Given the description of an element on the screen output the (x, y) to click on. 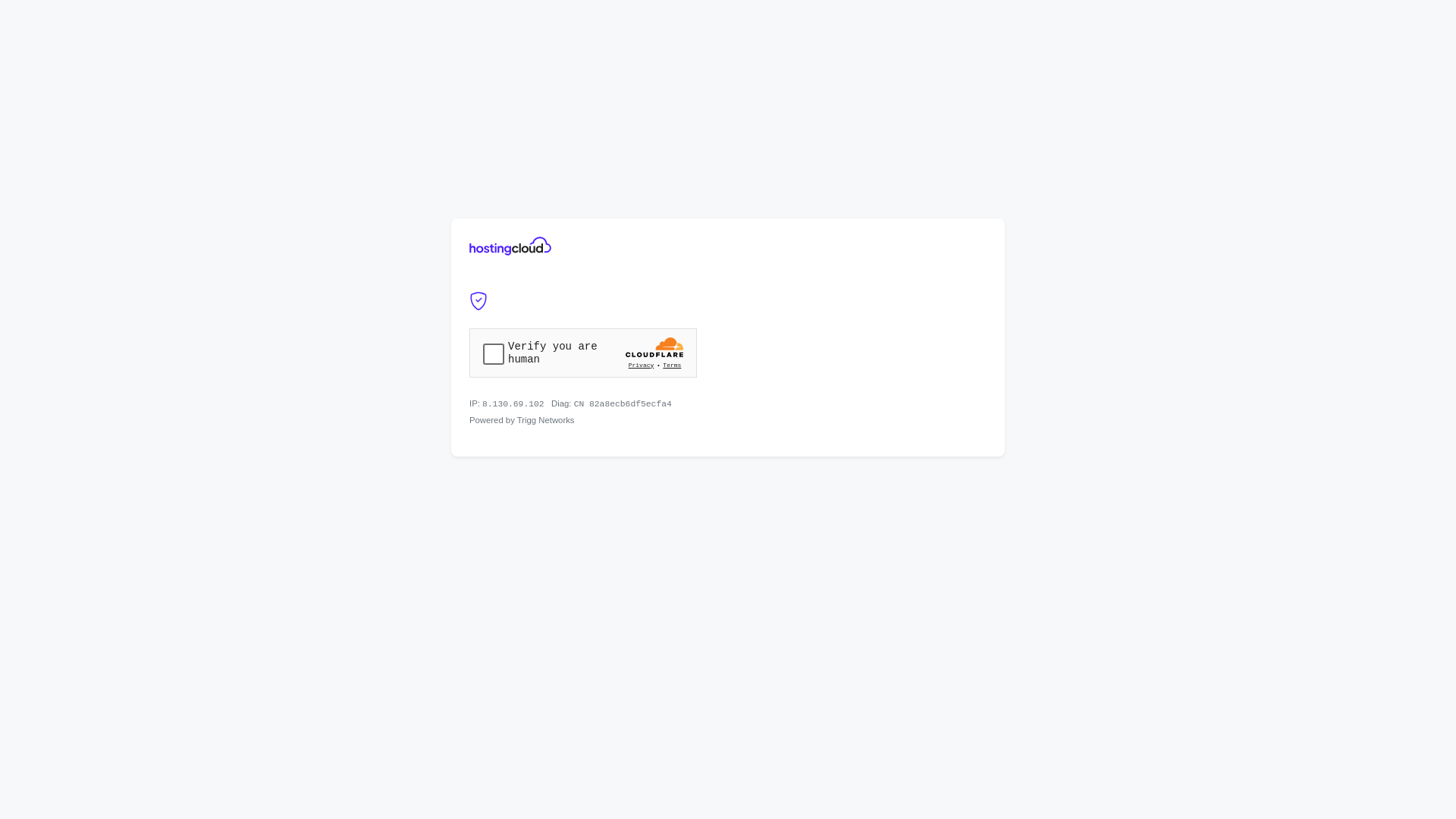
Widget containing a Cloudflare security challenge Element type: hover (582, 352)
Trigg Networks Element type: text (545, 419)
